Given the description of an element on the screen output the (x, y) to click on. 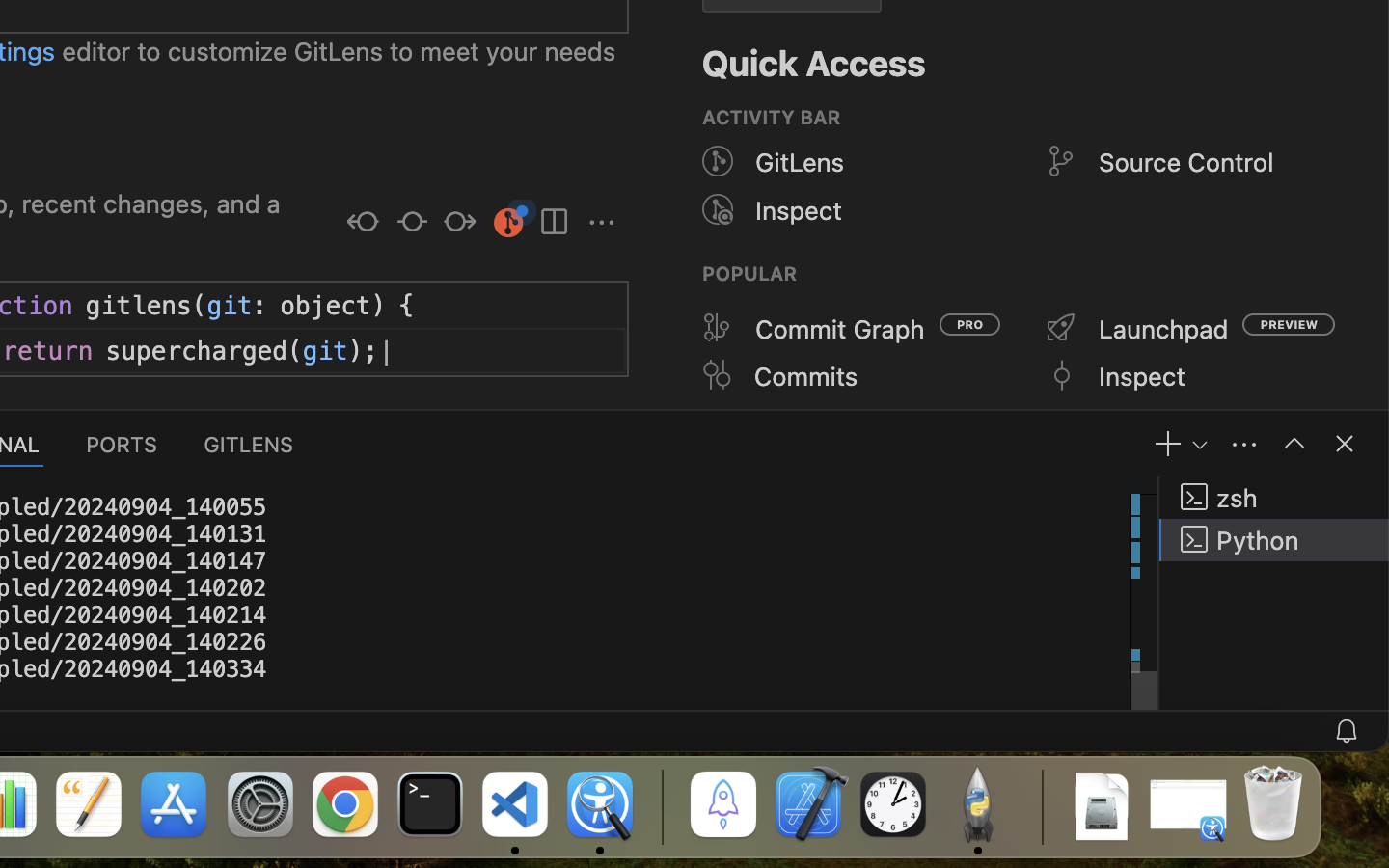
 Element type: AXStaticText (411, 223)
Inspect Element type: AXStaticText (799, 209)
object Element type: AXStaticText (325, 305)
